Given the description of an element on the screen output the (x, y) to click on. 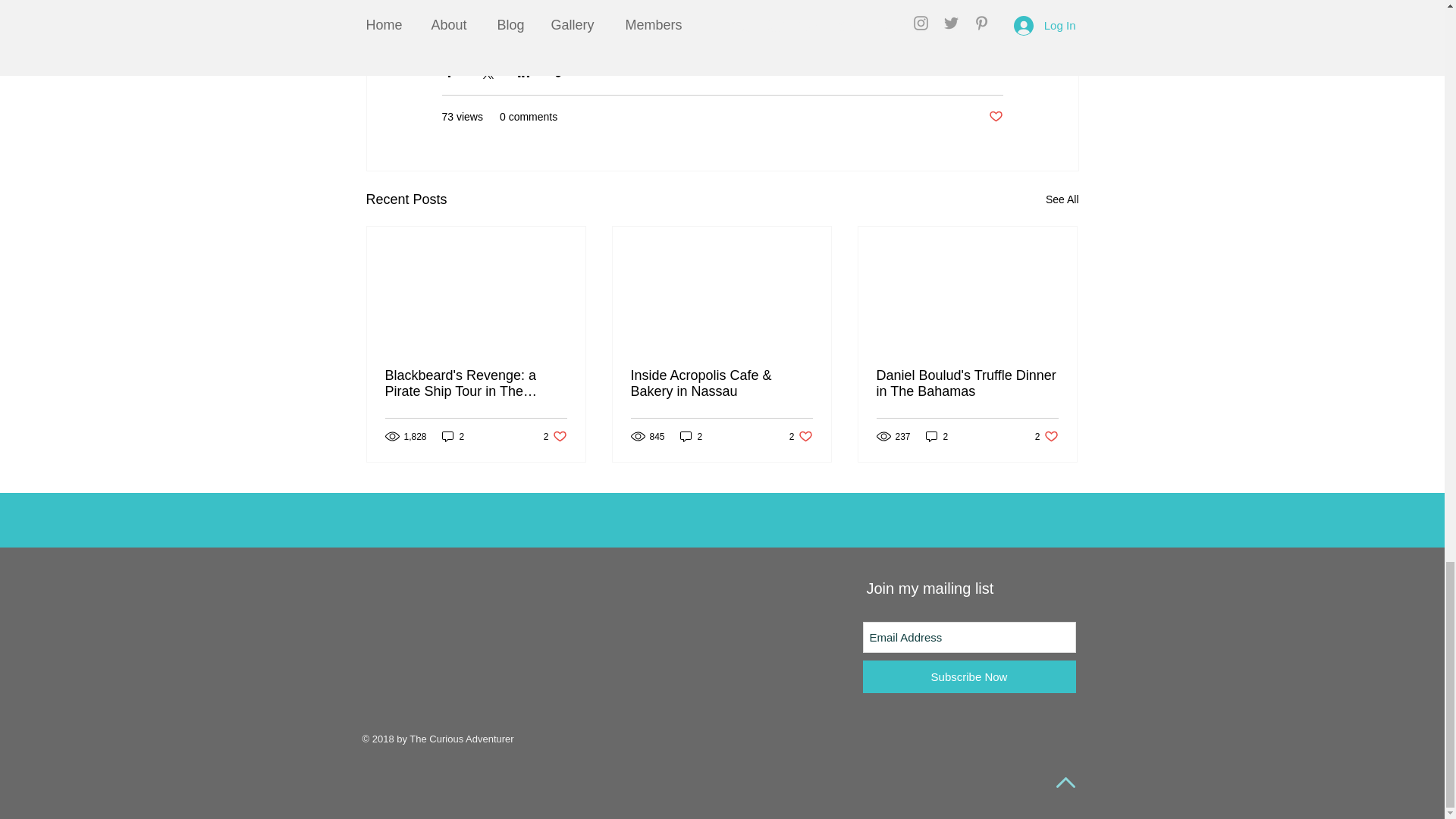
2 (555, 436)
Travel (691, 436)
Blackbeard's Revenge: a Pirate Ship Tour in The Bahamas (988, 70)
2 (476, 383)
See All (453, 436)
Post not marked as liked (1061, 199)
2 (800, 436)
Daniel Boulud's Truffle Dinner in The Bahamas (995, 116)
